Given the description of an element on the screen output the (x, y) to click on. 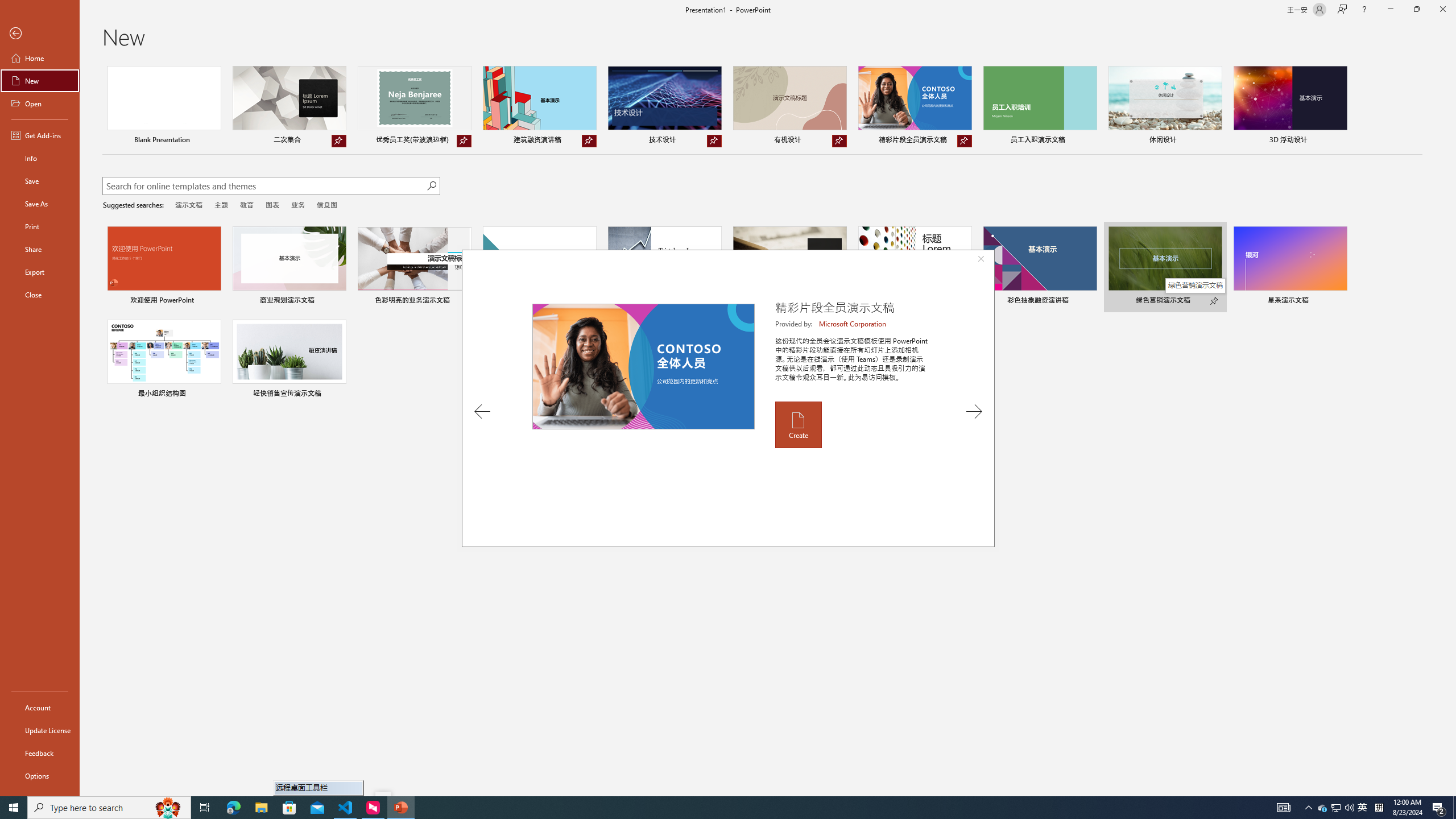
Previous Template (481, 411)
Info (40, 157)
Get Add-ins (40, 134)
Pin to list (338, 394)
